Given the description of an element on the screen output the (x, y) to click on. 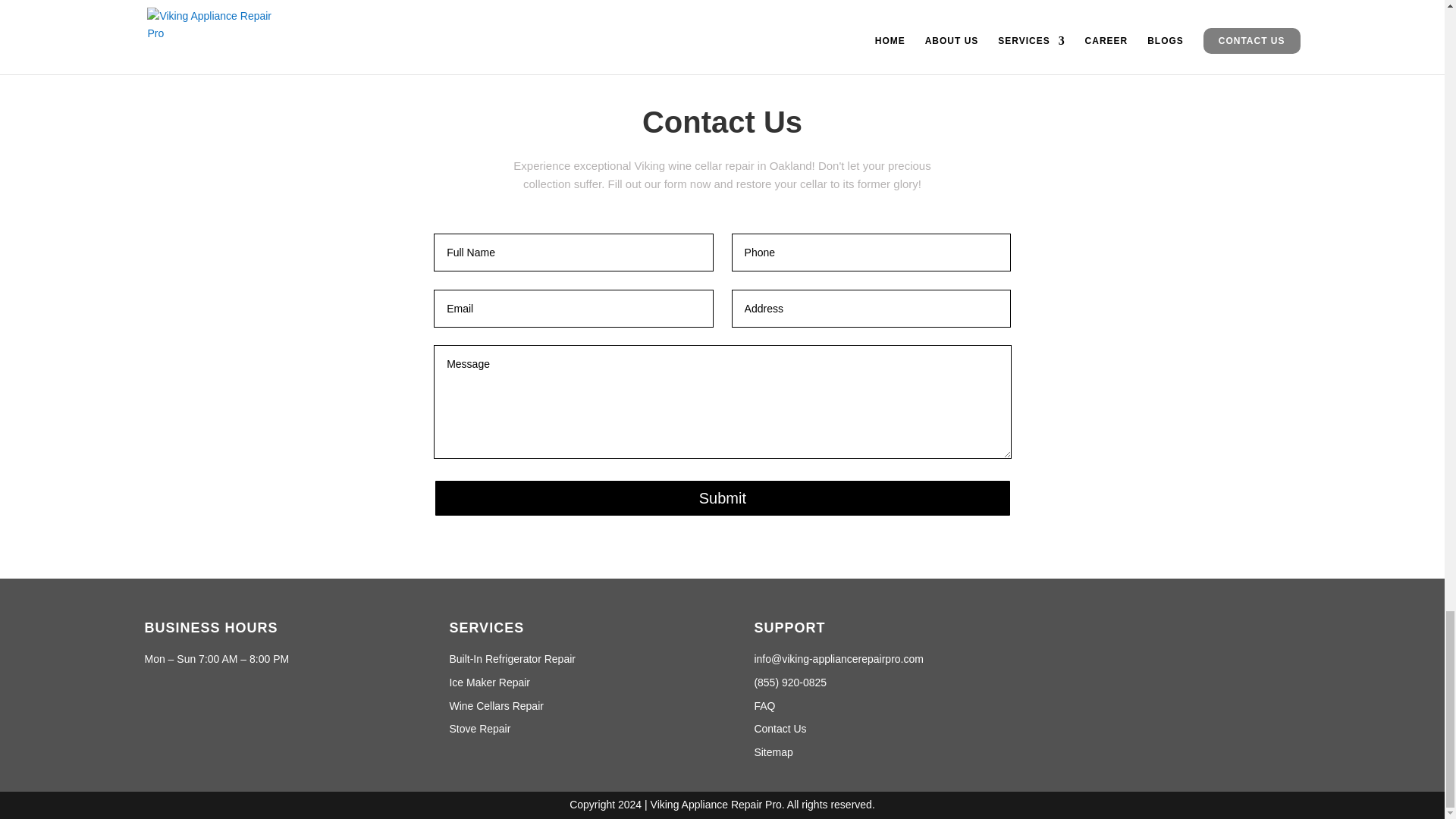
FAQ (764, 705)
Wine Cellars Repair (495, 705)
Ice Maker Repair (488, 682)
Contact Us (780, 728)
Built-In Refrigerator Repair (511, 658)
Sitemap (773, 752)
Submit (721, 497)
Stove Repair (479, 728)
